Given the description of an element on the screen output the (x, y) to click on. 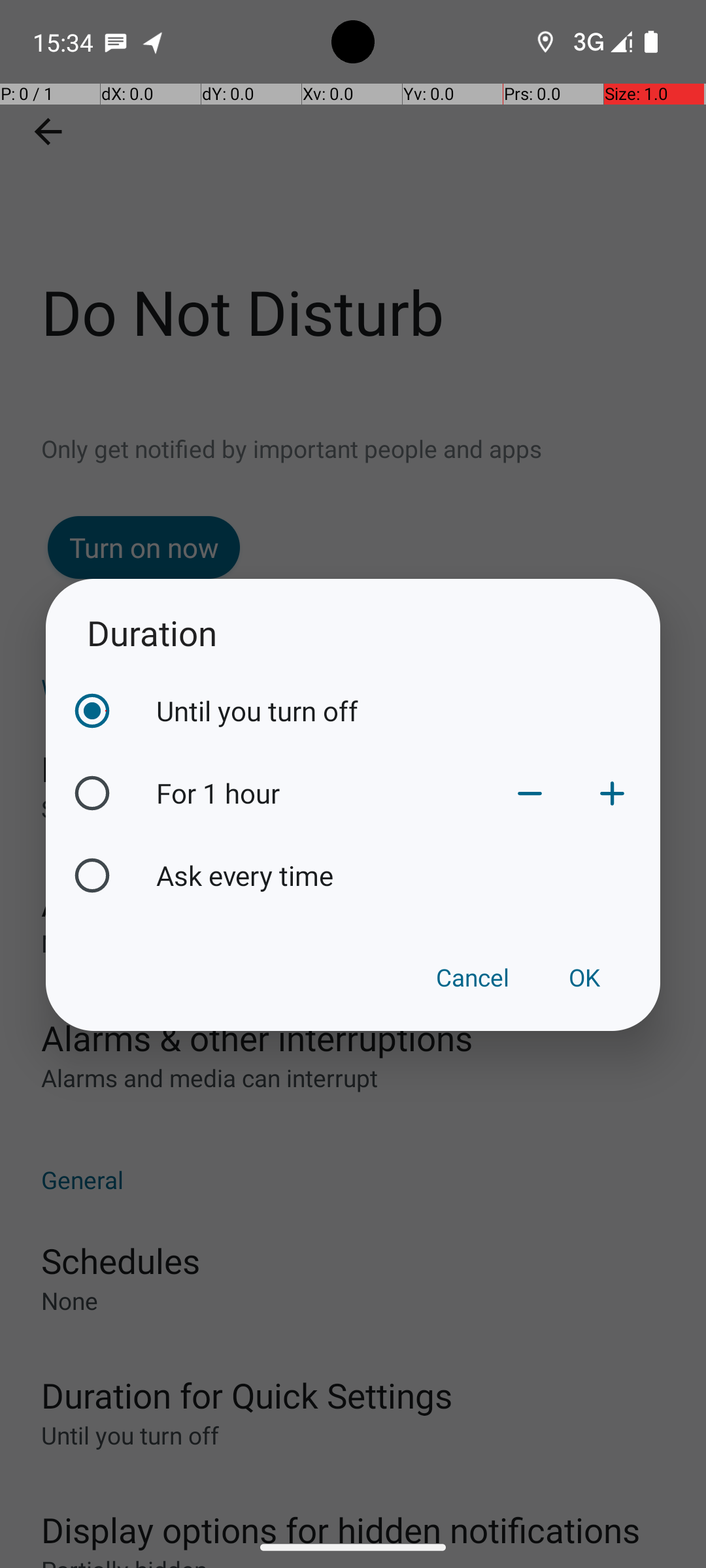
Duration Element type: android.widget.TextView (352, 632)
Less time. Element type: android.widget.ImageView (529, 792)
More time. Element type: android.widget.ImageView (611, 792)
Until you turn off Element type: android.widget.TextView (404, 710)
For 1 hour Element type: android.widget.TextView (322, 792)
Ask every time Element type: android.widget.TextView (404, 874)
